Given the description of an element on the screen output the (x, y) to click on. 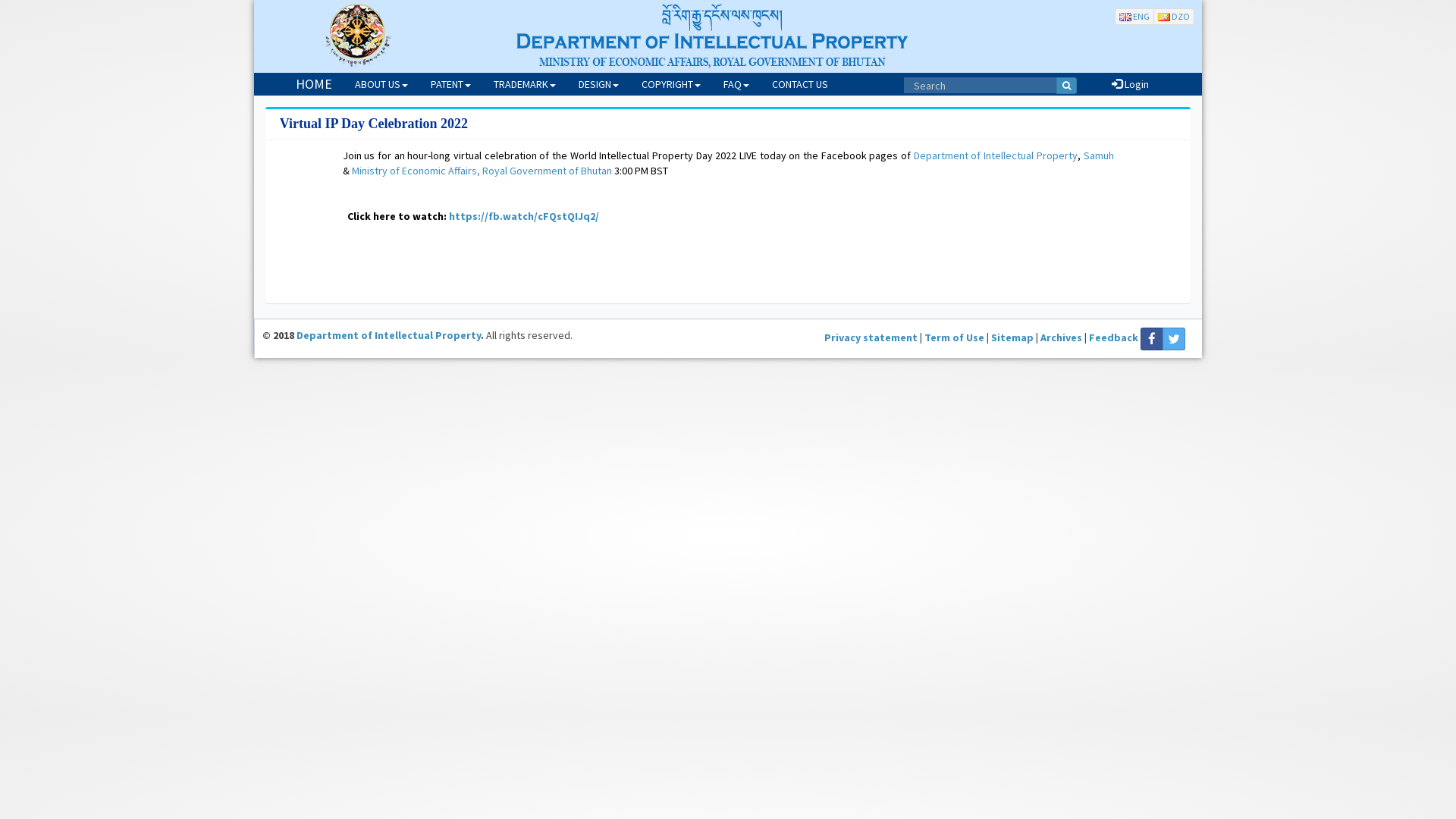
DZO Element type: text (1173, 16)
twitter Element type: hover (1173, 338)
Samuh Element type: text (1098, 155)
Department of Intellectual Property Element type: text (388, 335)
TRADEMARK Element type: text (524, 83)
ABOUT US Element type: text (381, 83)
CONTACT US Element type: text (799, 83)
Archives Element type: text (1061, 337)
ENG Element type: text (1134, 16)
COPYRIGHT Element type: text (671, 83)
ENG Element type: text (1134, 15)
Term of Use Element type: text (954, 337)
Privacy statement Element type: text (870, 337)
FAQ Element type: text (736, 83)
facebook Element type: hover (1151, 338)
PATENT Element type: text (450, 83)
HOME Element type: text (313, 83)
Ministry of Economic Affairs, Royal Government of Bhutan Element type: text (481, 170)
Department of Intellectual Property Element type: text (995, 155)
https://fb.watch/cFQstQIJq2/ Element type: text (523, 215)
DZO Element type: text (1173, 15)
Sitemap Element type: text (1012, 337)
Feedback Element type: text (1113, 337)
Login Element type: text (1130, 83)
DESIGN Element type: text (598, 83)
